Given the description of an element on the screen output the (x, y) to click on. 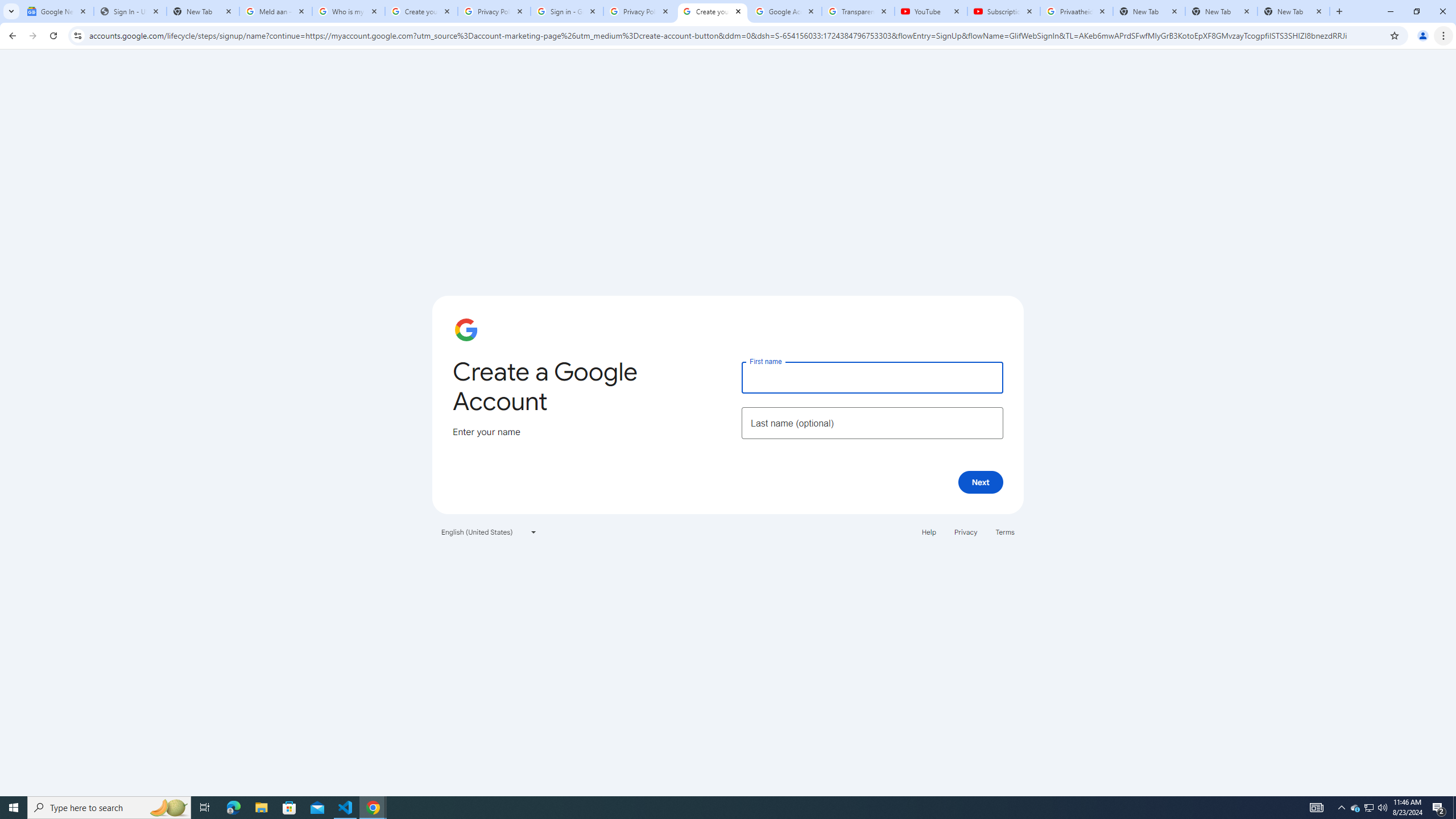
English (United States) (489, 531)
Close (1318, 11)
Back (10, 35)
Privacy (965, 531)
Forward (32, 35)
Bookmark this tab (1393, 35)
System (6, 6)
New Tab (1338, 11)
Google Account (785, 11)
Google News (57, 11)
Sign in - Google Accounts (566, 11)
Sign In - USA TODAY (129, 11)
Minimize (1390, 11)
Help (928, 531)
